Given the description of an element on the screen output the (x, y) to click on. 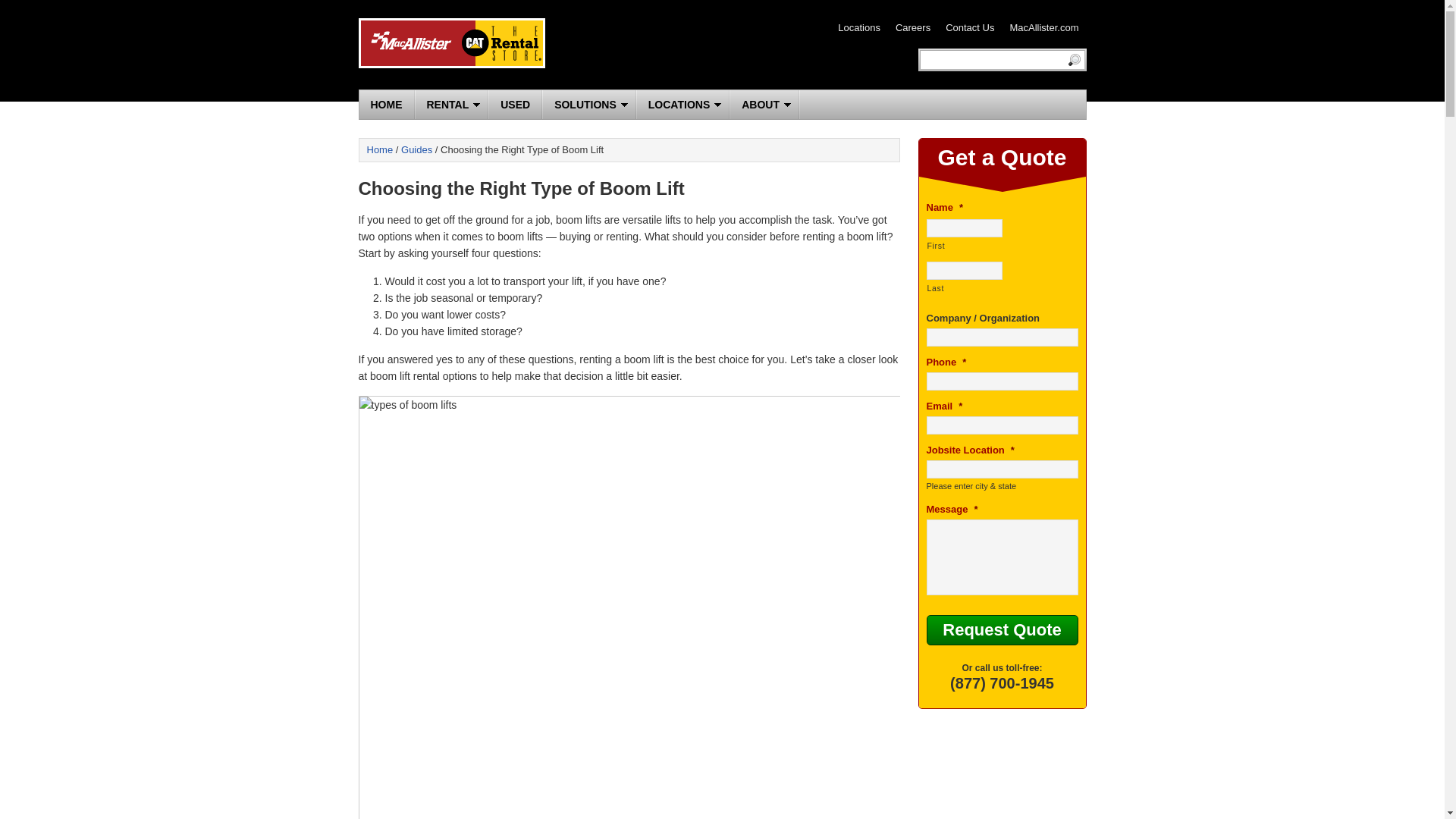
Search (1070, 63)
Search (1070, 63)
MacAllister Rentals (451, 42)
MacAllister Machinery (1043, 27)
Careers (912, 27)
MacAllister.com (1043, 27)
Locations (859, 27)
HOME (386, 104)
Contact Us (969, 27)
Search (1070, 63)
Contact MacAllister Rentals (969, 27)
Careers at MacAllister Rentals (912, 27)
MacAllister Rentals Locations (859, 27)
Request Quote (1002, 630)
